Given the description of an element on the screen output the (x, y) to click on. 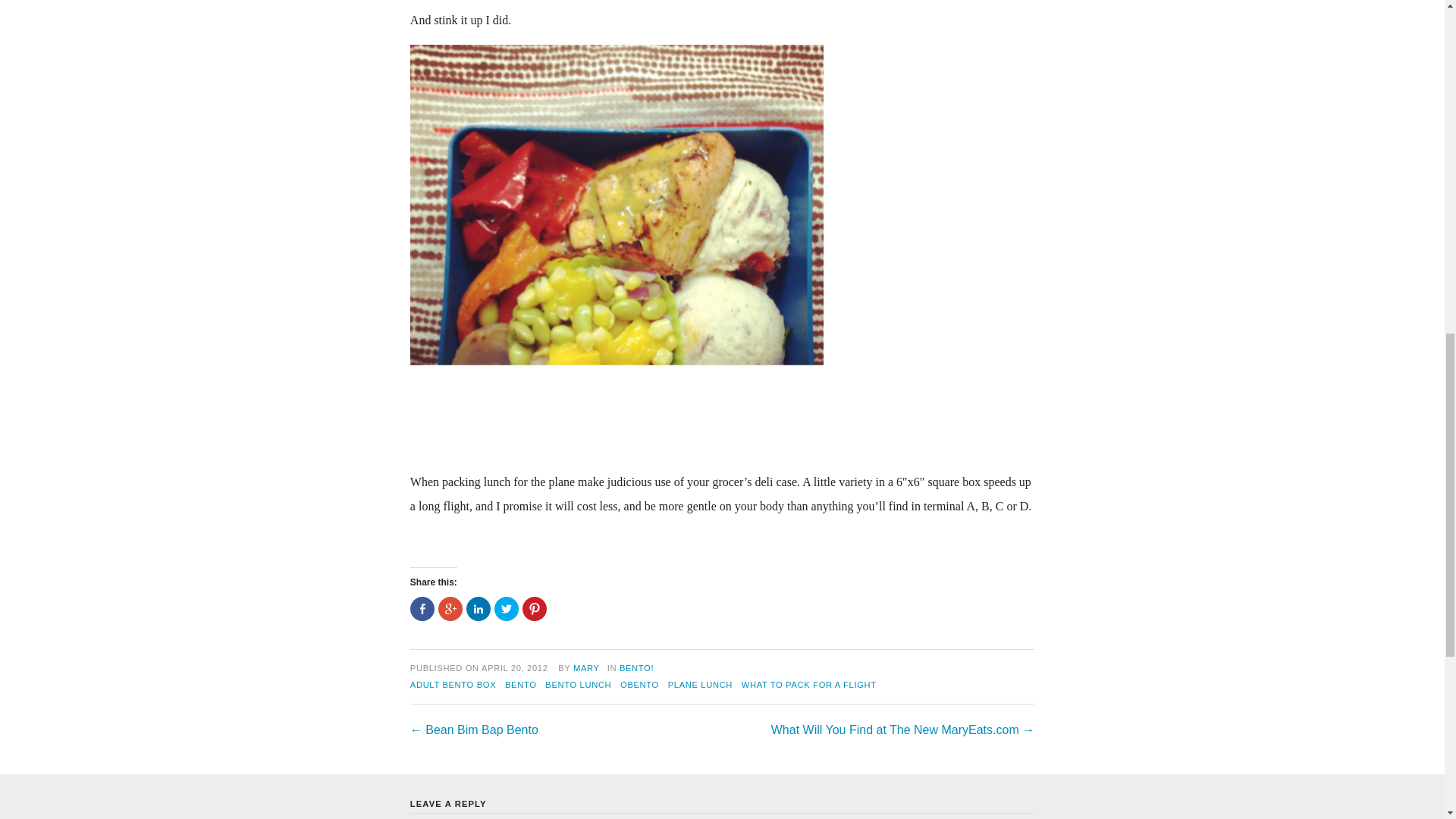
Share on Facebook (421, 608)
Click to share on Twitter (506, 608)
MARY (586, 667)
WHAT TO PACK FOR A FLIGHT (808, 684)
Click to share on Pinterest (534, 608)
BENTO LUNCH (577, 684)
BENTO (521, 684)
PLANE LUNCH (700, 684)
Click to share on LinkedIn (477, 608)
ADULT BENTO BOX (453, 684)
